Given the description of an element on the screen output the (x, y) to click on. 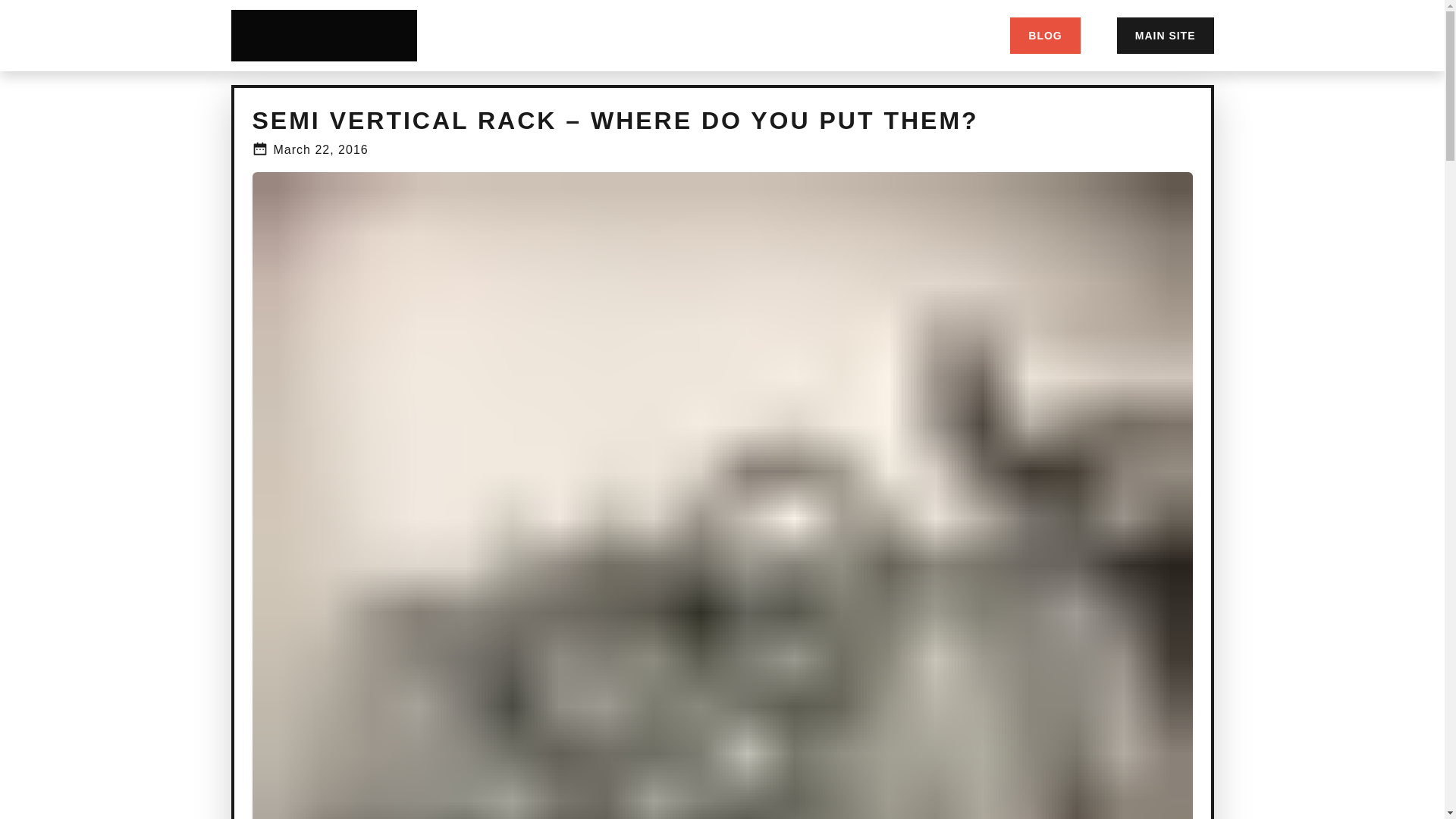
MAIN SITE (1165, 35)
BLOG (1045, 35)
